Given the description of an element on the screen output the (x, y) to click on. 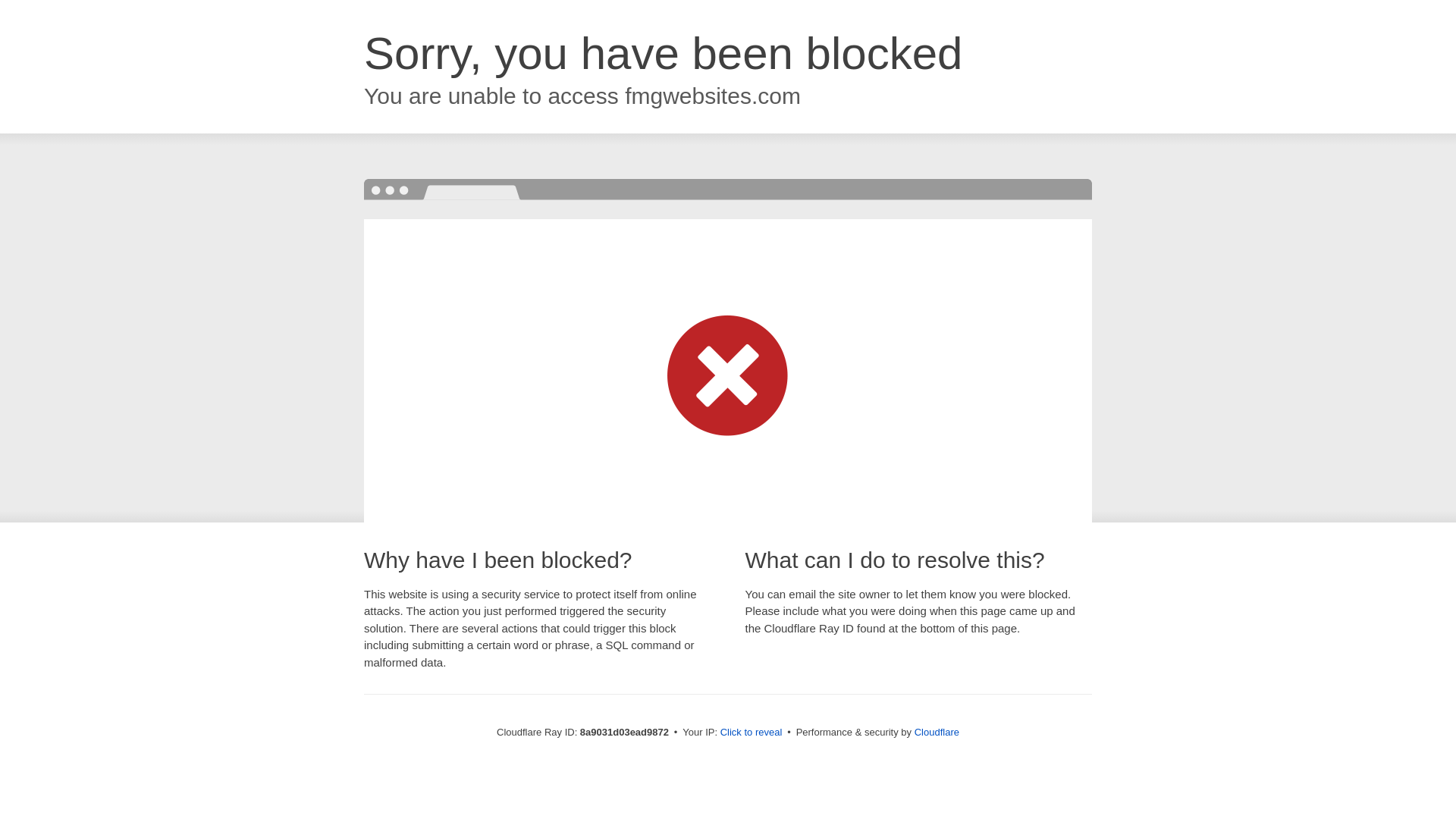
Click to reveal (751, 732)
Cloudflare (936, 731)
